Given the description of an element on the screen output the (x, y) to click on. 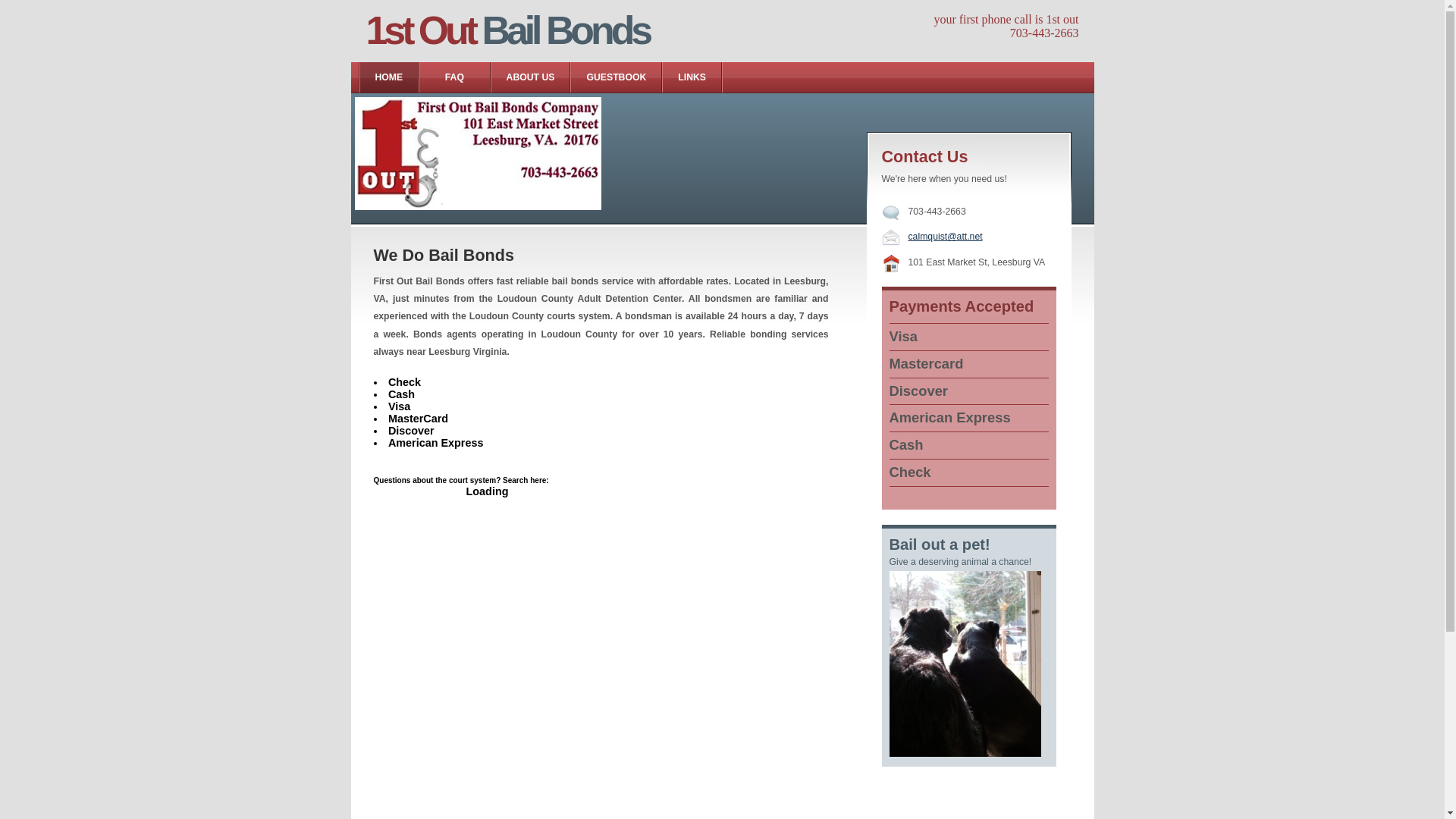
calmquist@att.net Element type: text (945, 236)
1st Out Bail Bonds Element type: text (507, 30)
    FAQ     Element type: text (453, 77)
ABOUT US Element type: text (530, 77)
GUESTBOOK Element type: text (616, 77)
LINKS Element type: text (691, 77)
HOME Element type: text (389, 77)
